Given the description of an element on the screen output the (x, y) to click on. 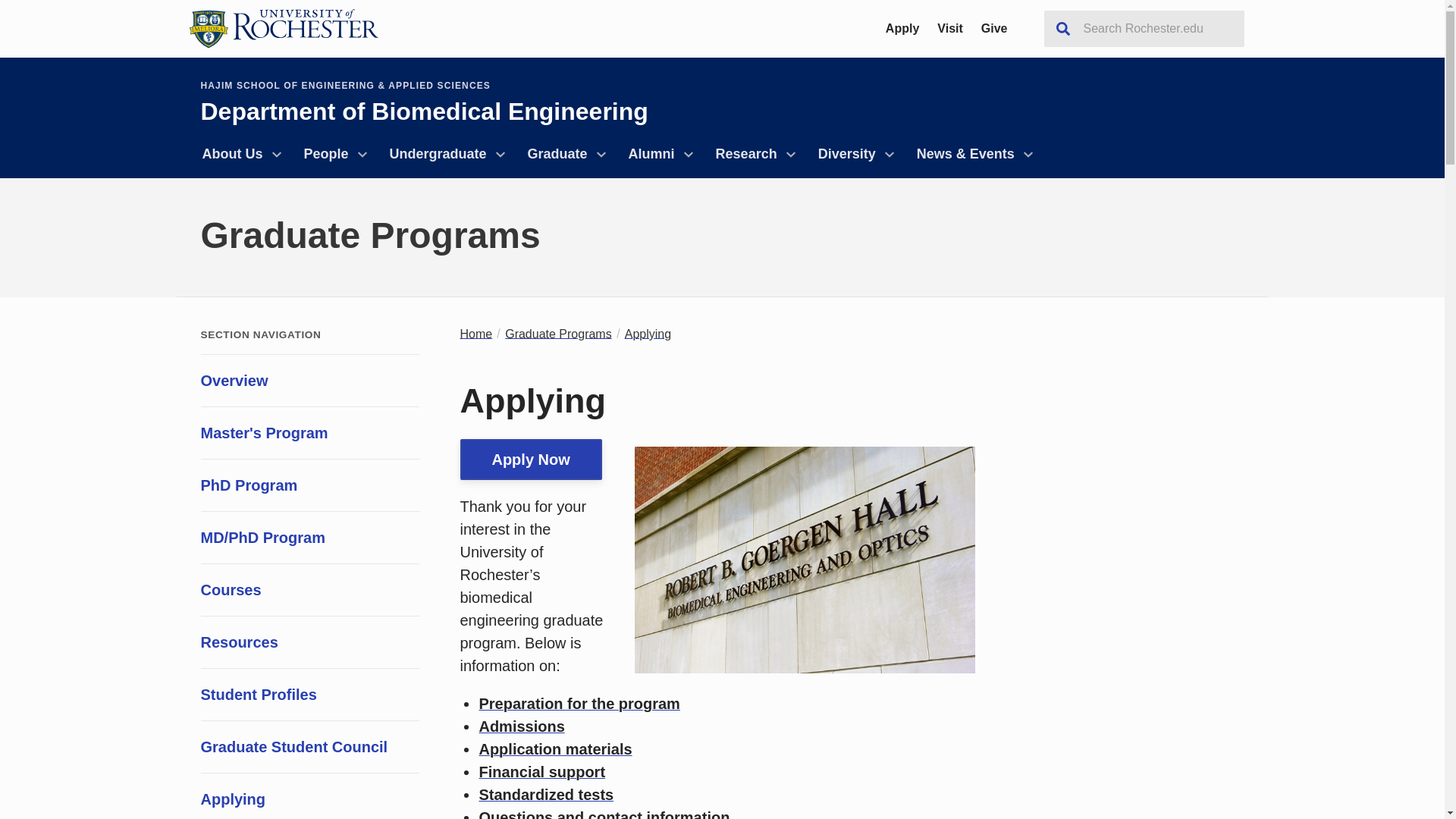
Visit (949, 28)
Department of Biomedical Engineering (423, 111)
Give (994, 28)
Undergraduate (444, 154)
University of Rochester (282, 28)
Apply (901, 28)
About Us (238, 154)
People (332, 154)
Search (1062, 28)
